Given the description of an element on the screen output the (x, y) to click on. 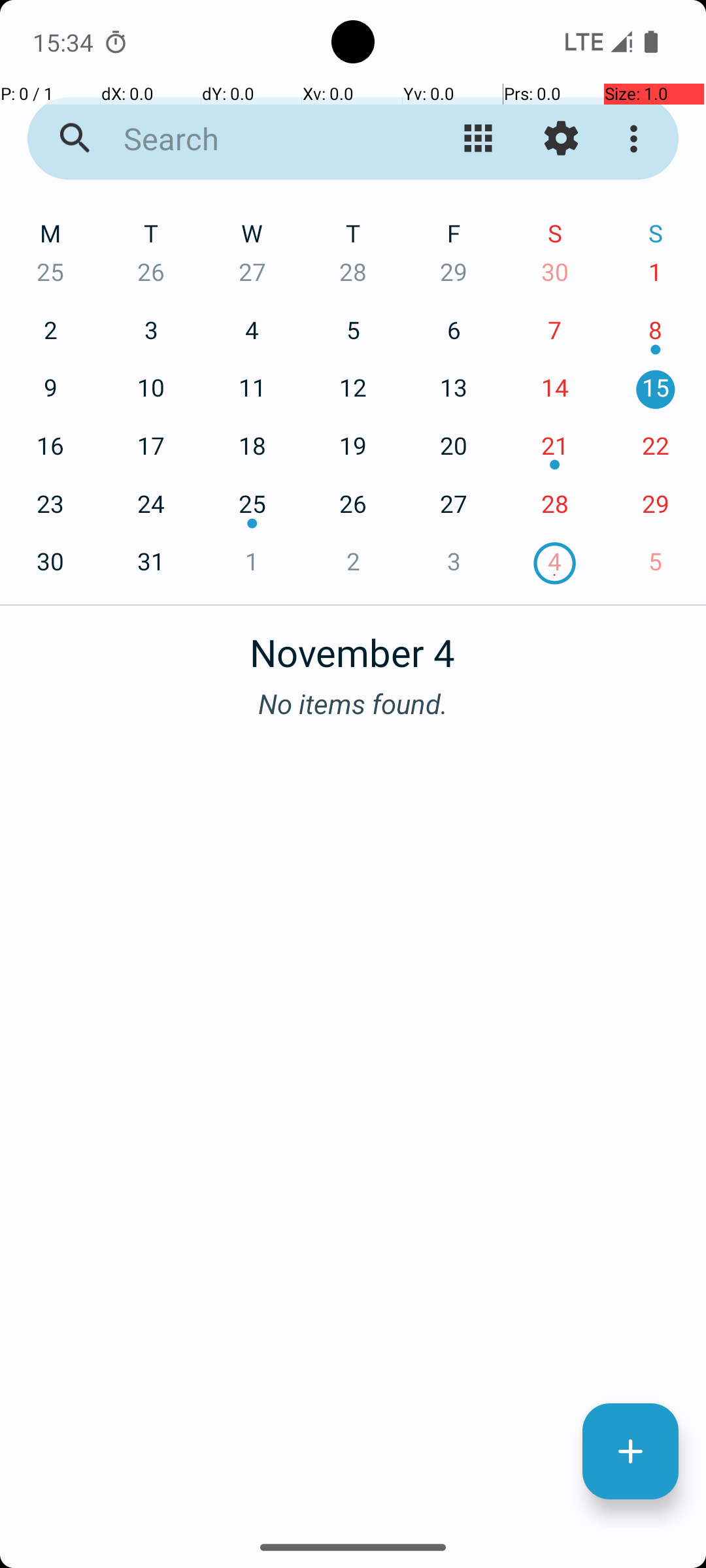
November 4 Element type: android.widget.TextView (352, 644)
